Given the description of an element on the screen output the (x, y) to click on. 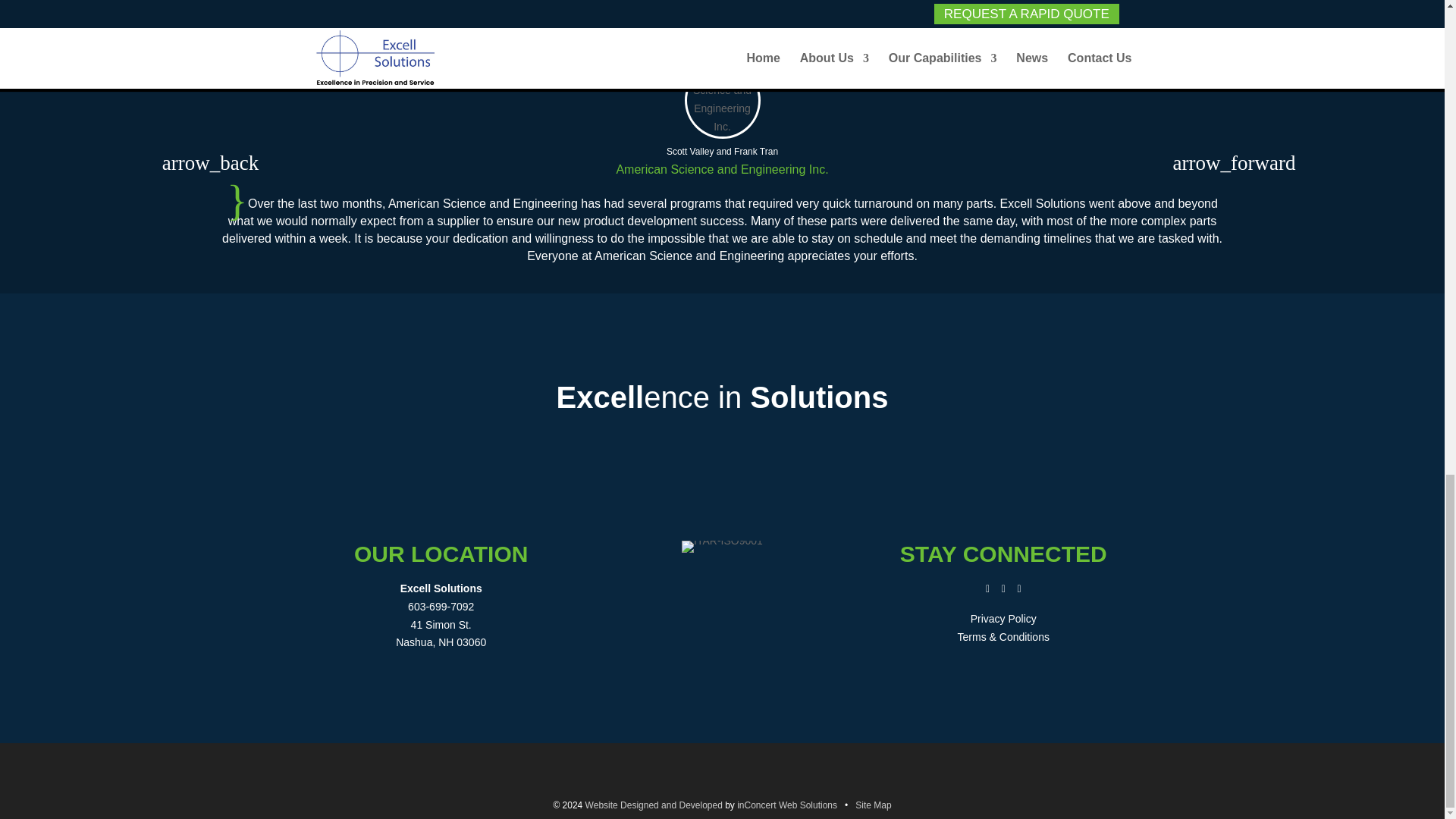
American Science and Engineering Inc. (721, 169)
603-699-7092 (440, 606)
ITAR-ISO9001 (721, 546)
